Given the description of an element on the screen output the (x, y) to click on. 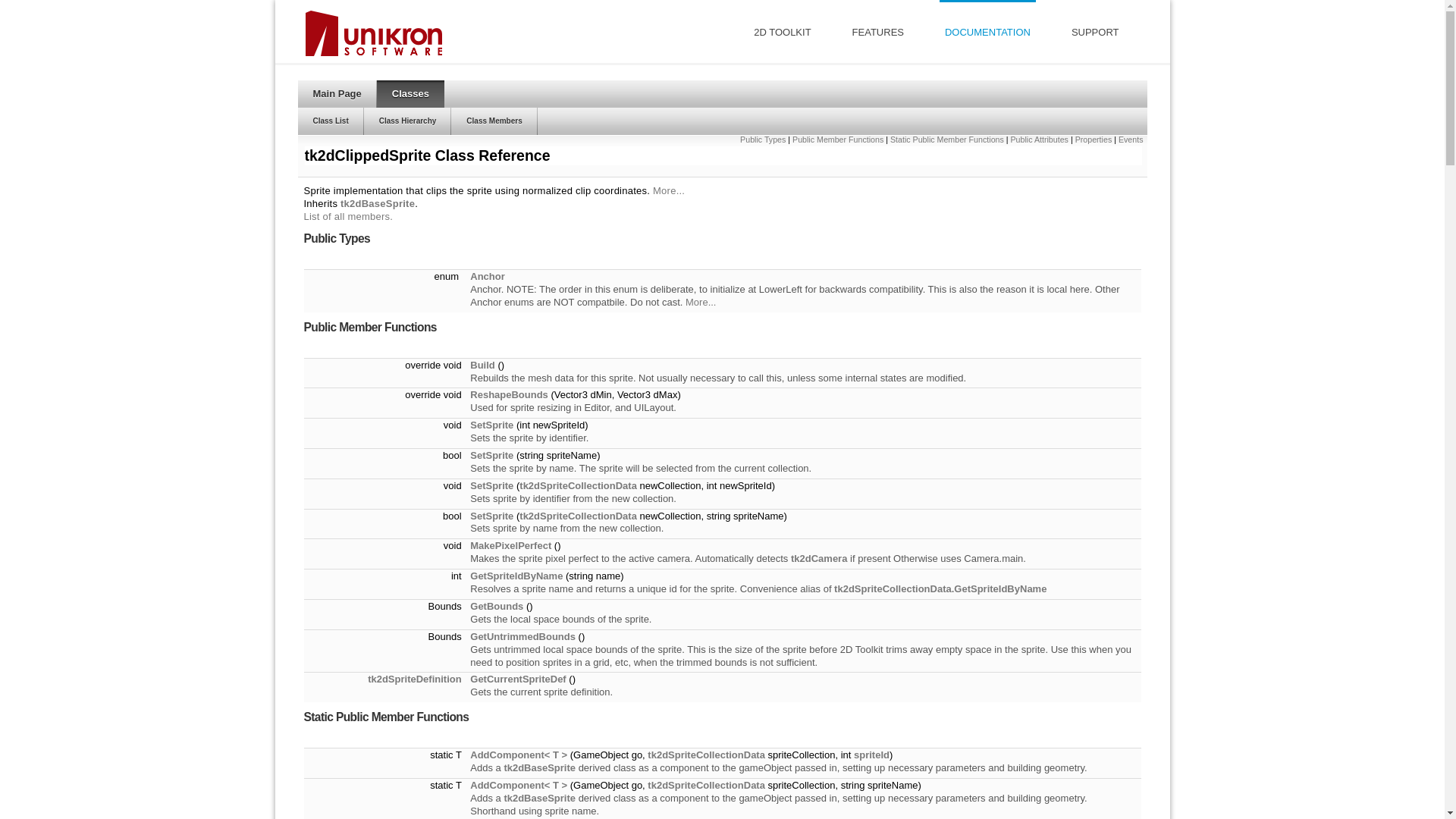
tk2dSpriteCollectionData.GetSpriteIdByName Element type: text (940, 588)
AddComponent< T > Element type: text (518, 784)
FEATURES Element type: text (878, 31)
Class Hierarchy Element type: text (407, 120)
Public Attributes Element type: text (1039, 139)
GetSpriteIdByName Element type: text (516, 575)
Public Member Functions Element type: text (837, 139)
Events Element type: text (1130, 139)
Anchor Element type: text (487, 276)
AddComponent< T > Element type: text (518, 754)
tk2dSpriteCollectionData Element type: text (706, 754)
DOCUMENTATION Element type: text (987, 31)
SUPPORT Element type: text (1095, 31)
SetSprite Element type: text (491, 485)
GetUntrimmedBounds Element type: text (522, 636)
Classes Element type: text (410, 93)
More... Element type: text (668, 190)
More... Element type: text (700, 301)
Static Public Member Functions Element type: text (947, 139)
MakePixelPerfect Element type: text (510, 545)
List of all members. Element type: text (347, 216)
GetBounds Element type: text (496, 605)
SetSprite Element type: text (491, 455)
tk2dSpriteCollectionData Element type: text (578, 515)
Main Page Element type: text (336, 93)
GetCurrentSpriteDef Element type: text (517, 678)
tk2dSpriteCollectionData Element type: text (578, 485)
tk2dCamera Element type: text (818, 558)
SetSprite Element type: text (491, 515)
Build Element type: text (482, 364)
tk2dBaseSprite Element type: text (539, 797)
tk2dBaseSprite Element type: text (377, 203)
Class Members Element type: text (493, 120)
ReshapeBounds Element type: text (509, 394)
tk2dSpriteDefinition Element type: text (414, 678)
2D TOOLKIT Element type: text (781, 31)
SetSprite Element type: text (491, 424)
tk2dBaseSprite Element type: text (539, 767)
Public Types Element type: text (762, 139)
tk2dSpriteCollectionData Element type: text (706, 784)
Class List Element type: text (330, 120)
spriteId Element type: text (871, 754)
Properties Element type: text (1093, 139)
